Given the description of an element on the screen output the (x, y) to click on. 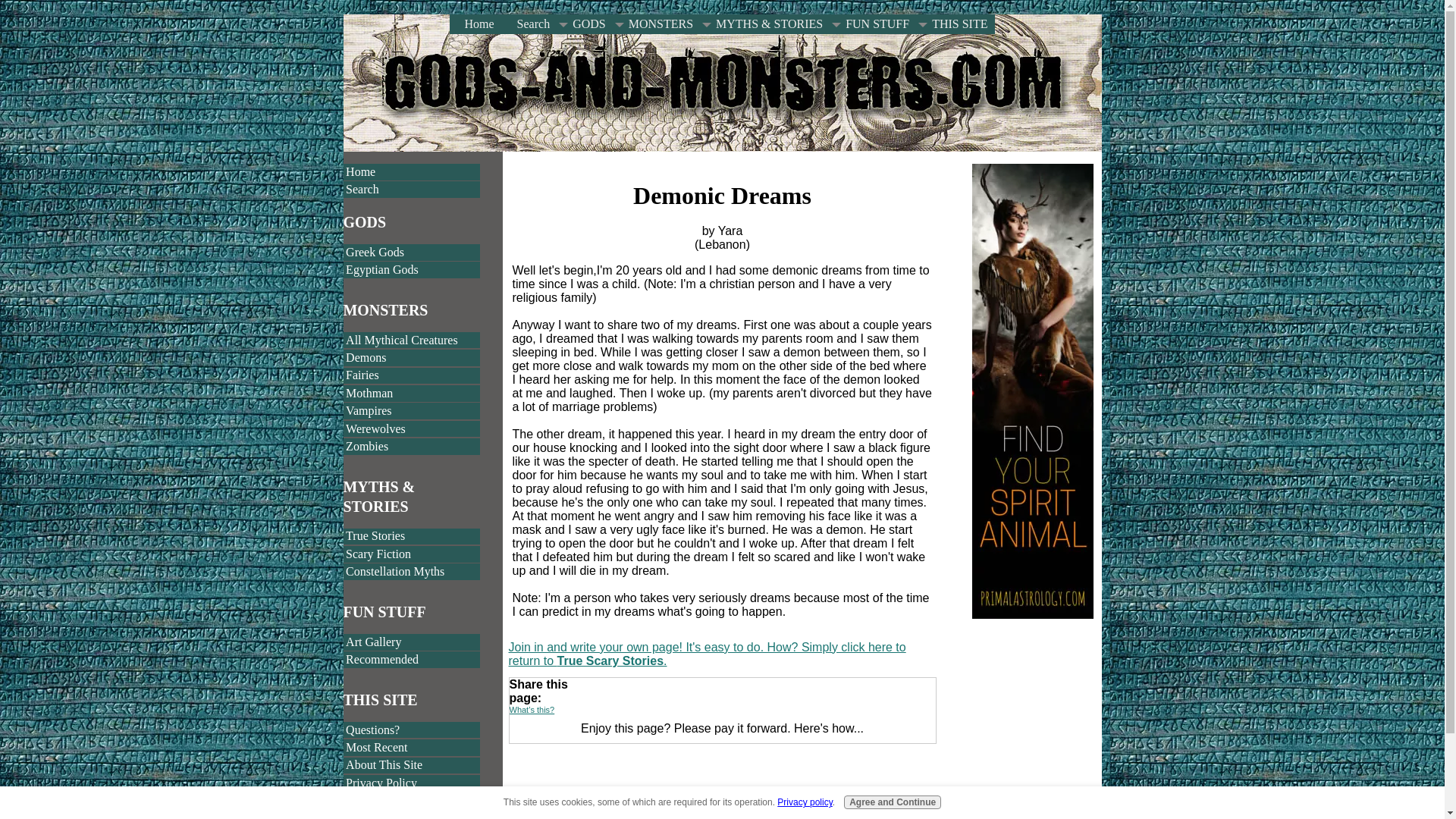
Fairies (411, 375)
Mothman (411, 393)
Constellation Myths (411, 571)
Art Gallery (411, 641)
Zombies (411, 446)
Vampires (411, 410)
True Stories (411, 536)
Egyptian Gods (411, 269)
Search (411, 189)
